Given the description of an element on the screen output the (x, y) to click on. 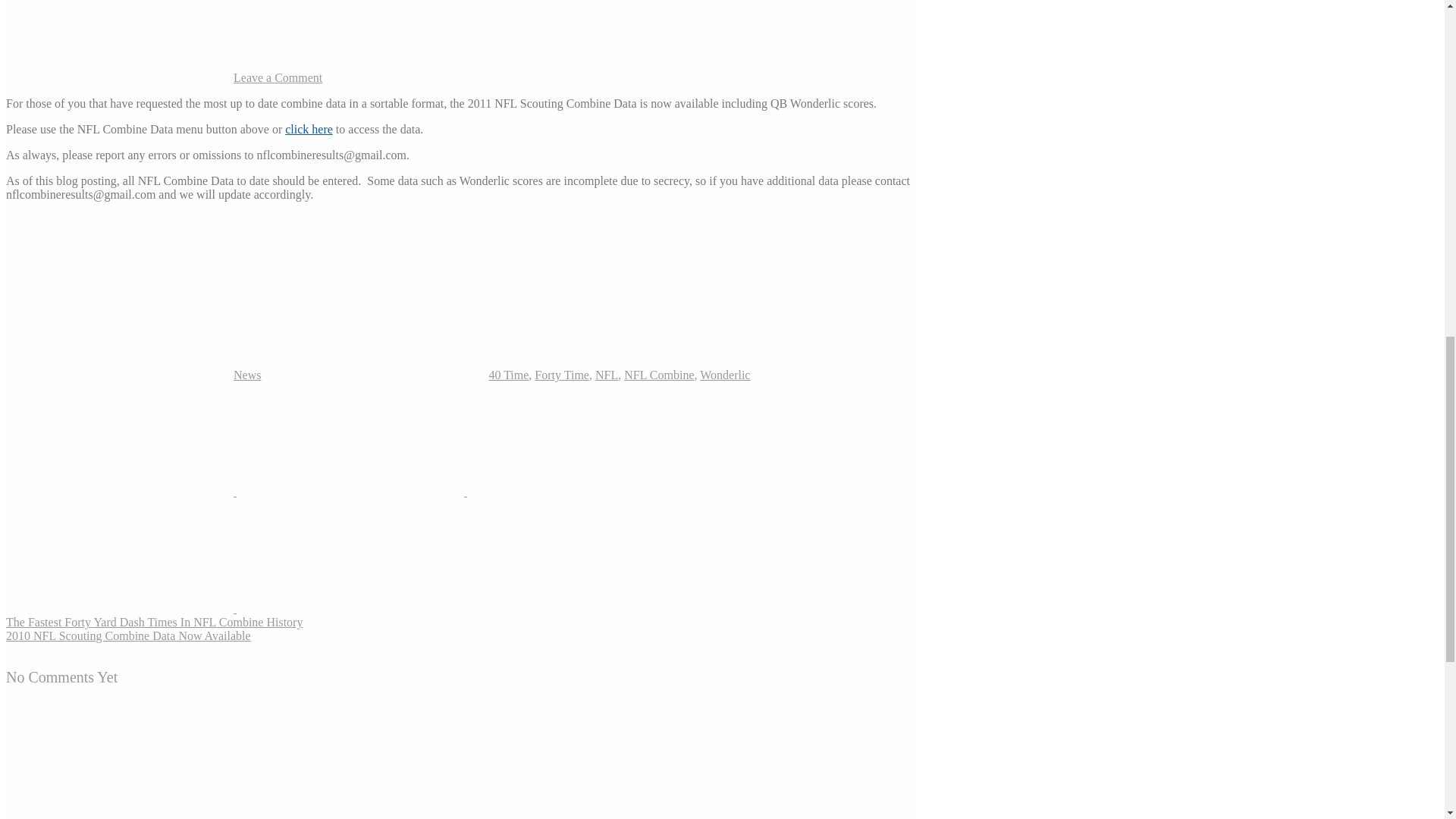
Share by Email (120, 608)
Wonderlic (724, 374)
Follow replies (118, 816)
2010 NFL Scouting Combine Data Now Available (127, 635)
News (246, 374)
40 Time (507, 374)
Share on Pinterest (580, 491)
The Fastest Forty Yard Dash Times In NFL Combine History (153, 621)
NFL Combine (659, 374)
Forty Time (561, 374)
Share on Facebook (351, 491)
click here (309, 128)
More options (349, 608)
2011 NFL Scouting Combine Results (309, 128)
NFL (606, 374)
